Given the description of an element on the screen output the (x, y) to click on. 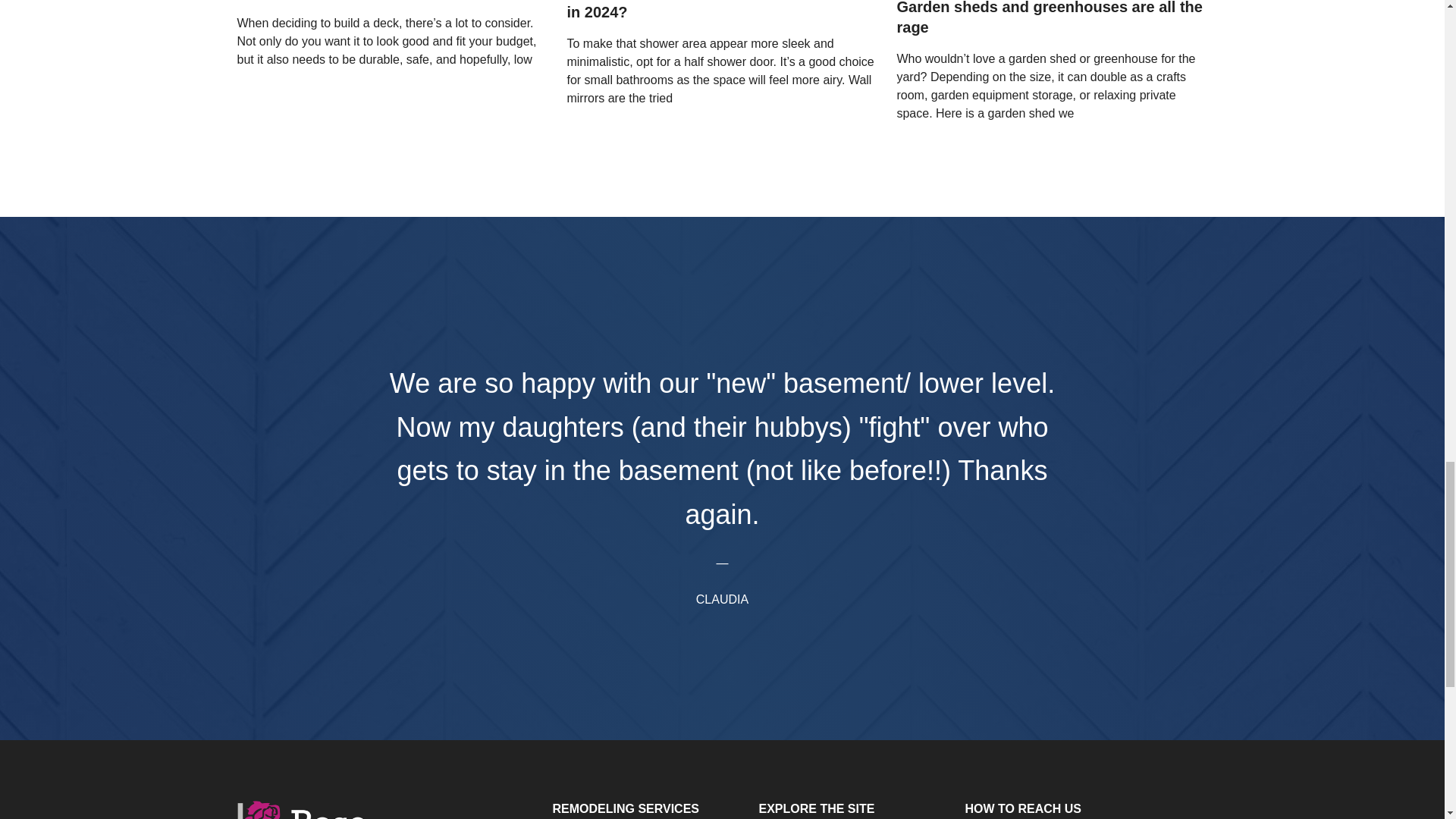
Garden sheds and greenhouses are all the rage (1051, 18)
What are the popular bathroom elements in 2024? (721, 11)
